Given the description of an element on the screen output the (x, y) to click on. 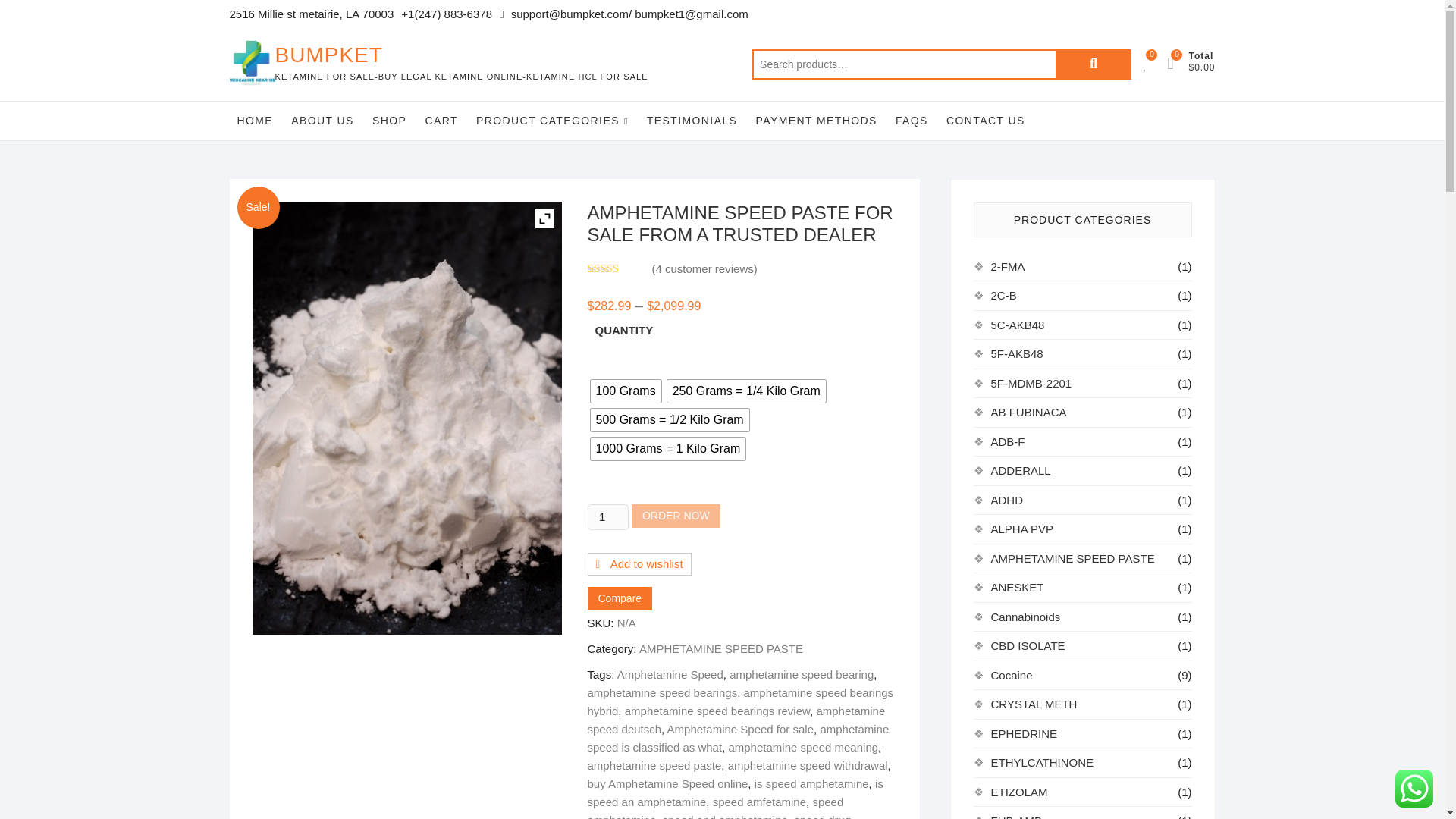
PRODUCT CATEGORIES (552, 120)
CONTACT US (985, 120)
CART (440, 120)
HOME (254, 120)
0 (1152, 62)
Compare (619, 598)
0 (1177, 62)
1 (606, 516)
FAQS (912, 120)
AMPHETAMINE SPEED PASTE (405, 417)
ABOUT US (322, 120)
BUMPKET (461, 54)
SHOP (389, 120)
Add to wishlist (638, 563)
